Given the description of an element on the screen output the (x, y) to click on. 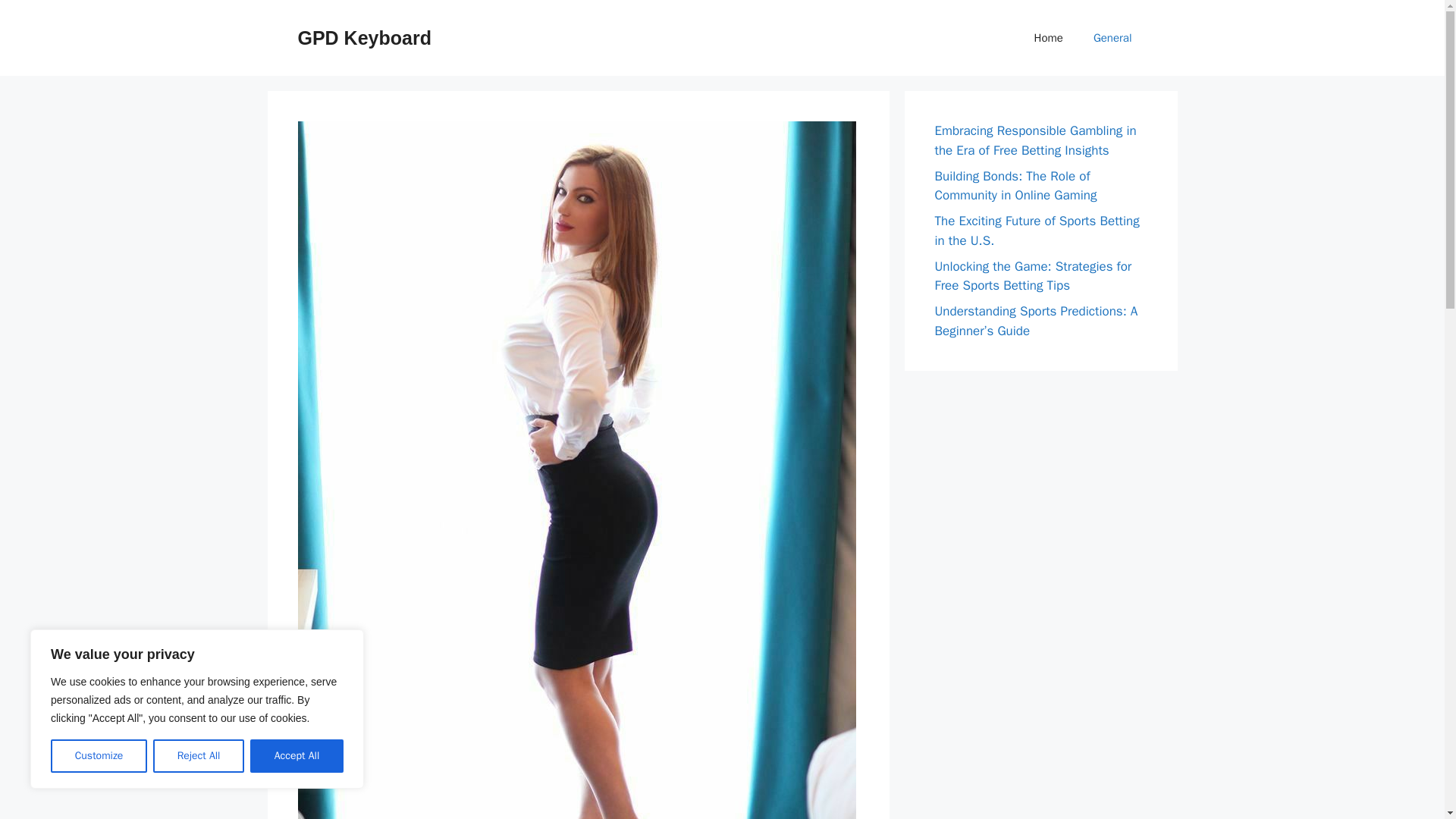
Accept All (296, 756)
GPD Keyboard (363, 37)
Unlocking the Game: Strategies for Free Sports Betting Tips (1032, 275)
Customize (98, 756)
Home (1048, 37)
General (1112, 37)
Building Bonds: The Role of Community in Online Gaming (1015, 185)
The Exciting Future of Sports Betting in the U.S. (1036, 230)
Reject All (198, 756)
